Given the description of an element on the screen output the (x, y) to click on. 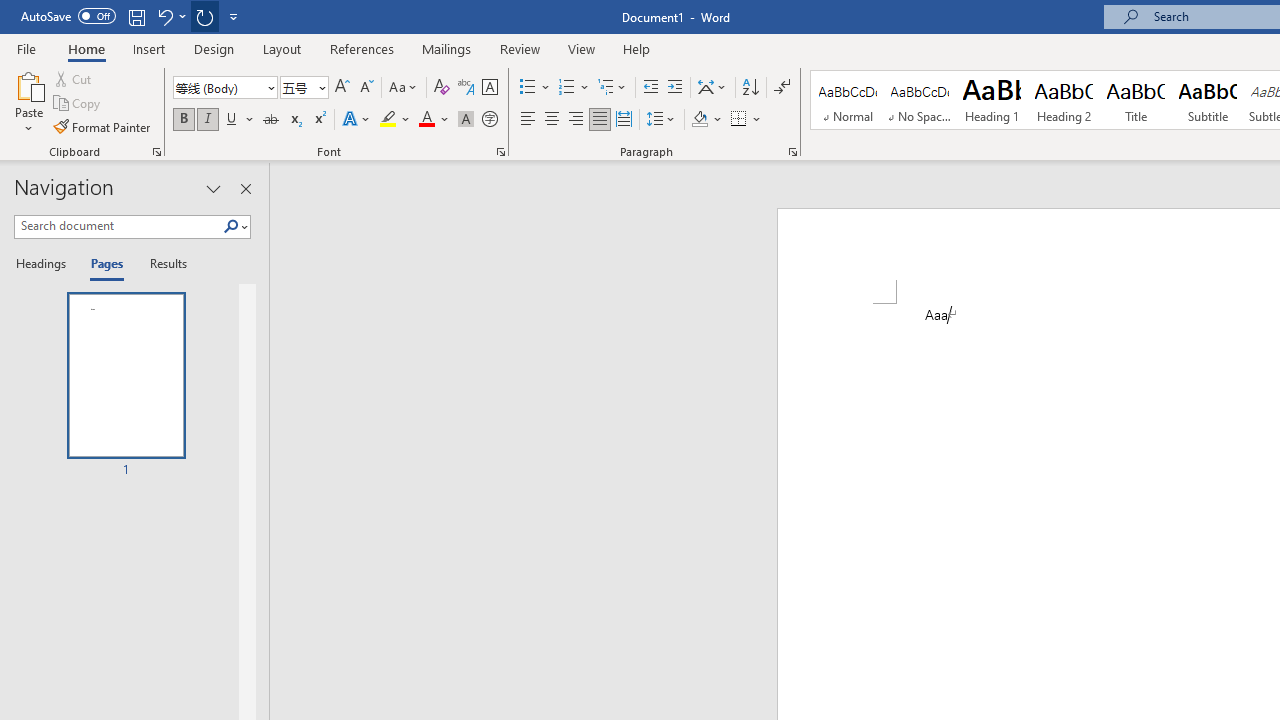
Home (86, 48)
Asian Layout (712, 87)
Review (520, 48)
Text Effects and Typography (357, 119)
File Tab (26, 48)
Phonetic Guide... (465, 87)
Align Left (527, 119)
Underline (239, 119)
Underline (232, 119)
Shrink Font (365, 87)
Center (552, 119)
More Options (757, 119)
Quick Access Toolbar (131, 16)
Borders (739, 119)
